Given the description of an element on the screen output the (x, y) to click on. 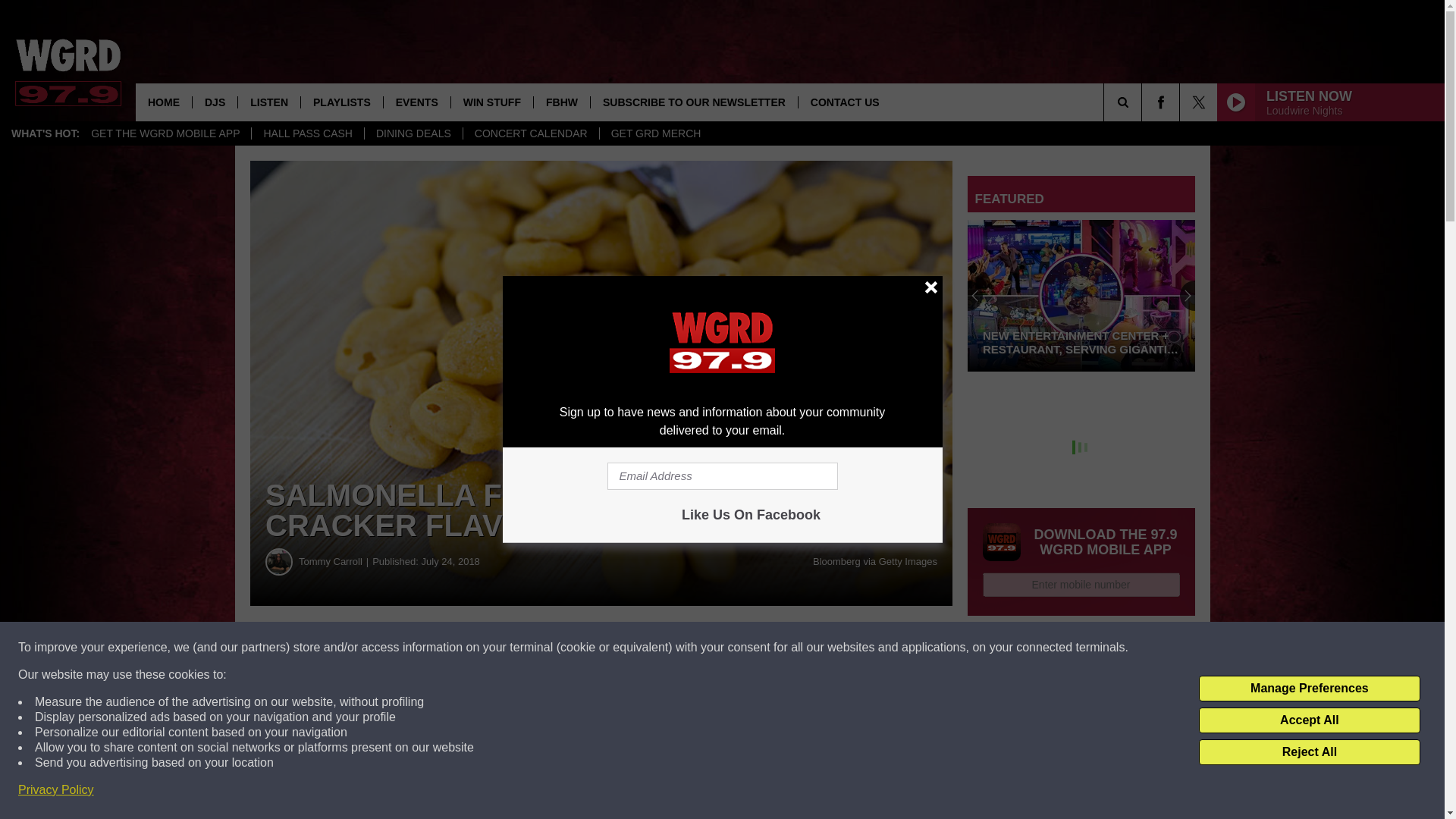
GET THE WGRD MOBILE APP (165, 133)
WIN STUFF (490, 102)
Accept All (1309, 720)
EVENTS (415, 102)
CONCERT CALENDAR (530, 133)
FBHW (560, 102)
Privacy Policy (55, 789)
HALL PASS CASH (307, 133)
Manage Preferences (1309, 688)
Share on Facebook (460, 647)
DJS (214, 102)
CONTACT US (844, 102)
SUBSCRIBE TO OUR NEWSLETTER (693, 102)
Email Address (722, 475)
DINING DEALS (413, 133)
